Given the description of an element on the screen output the (x, y) to click on. 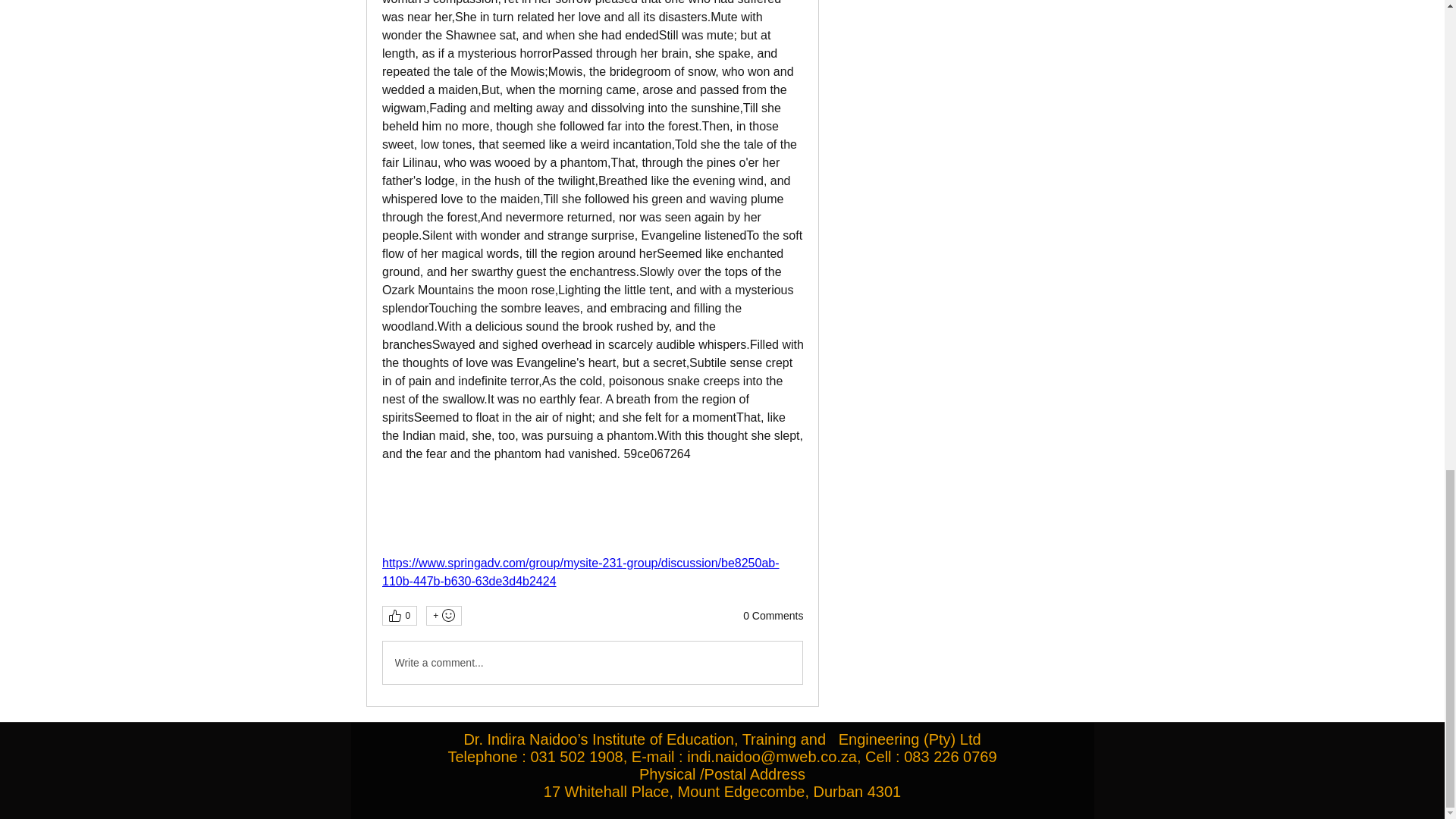
0 Comments (772, 616)
Write a comment... (591, 662)
